Given the description of an element on the screen output the (x, y) to click on. 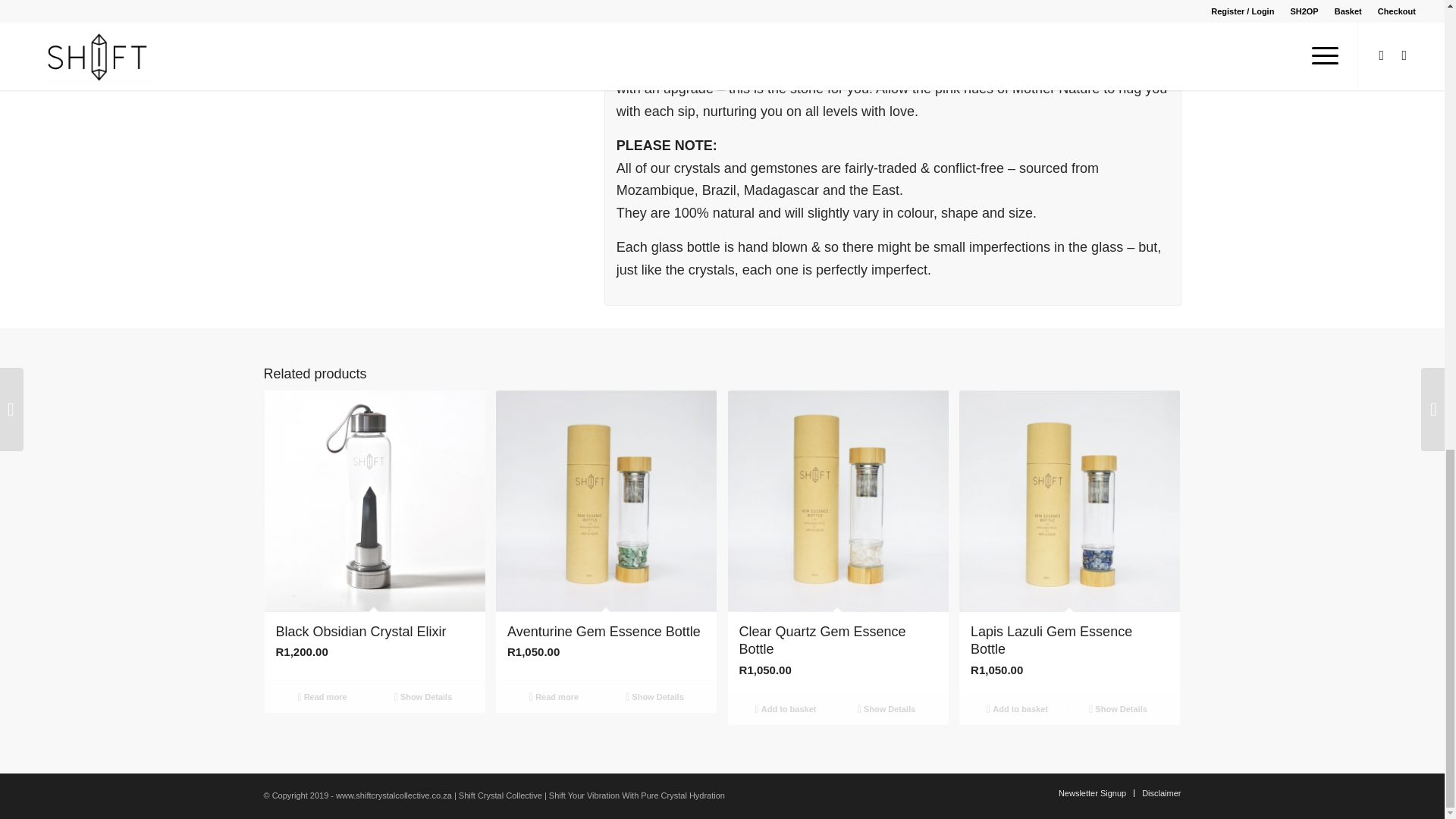
Show Details (654, 696)
Disclaimer (1160, 792)
Show Details (886, 709)
Read more (553, 696)
Add to basket (785, 709)
Show Details (422, 696)
Add to basket (1016, 709)
Newsletter Signup (1091, 792)
Show Details (1118, 709)
Read more (321, 696)
